Given the description of an element on the screen output the (x, y) to click on. 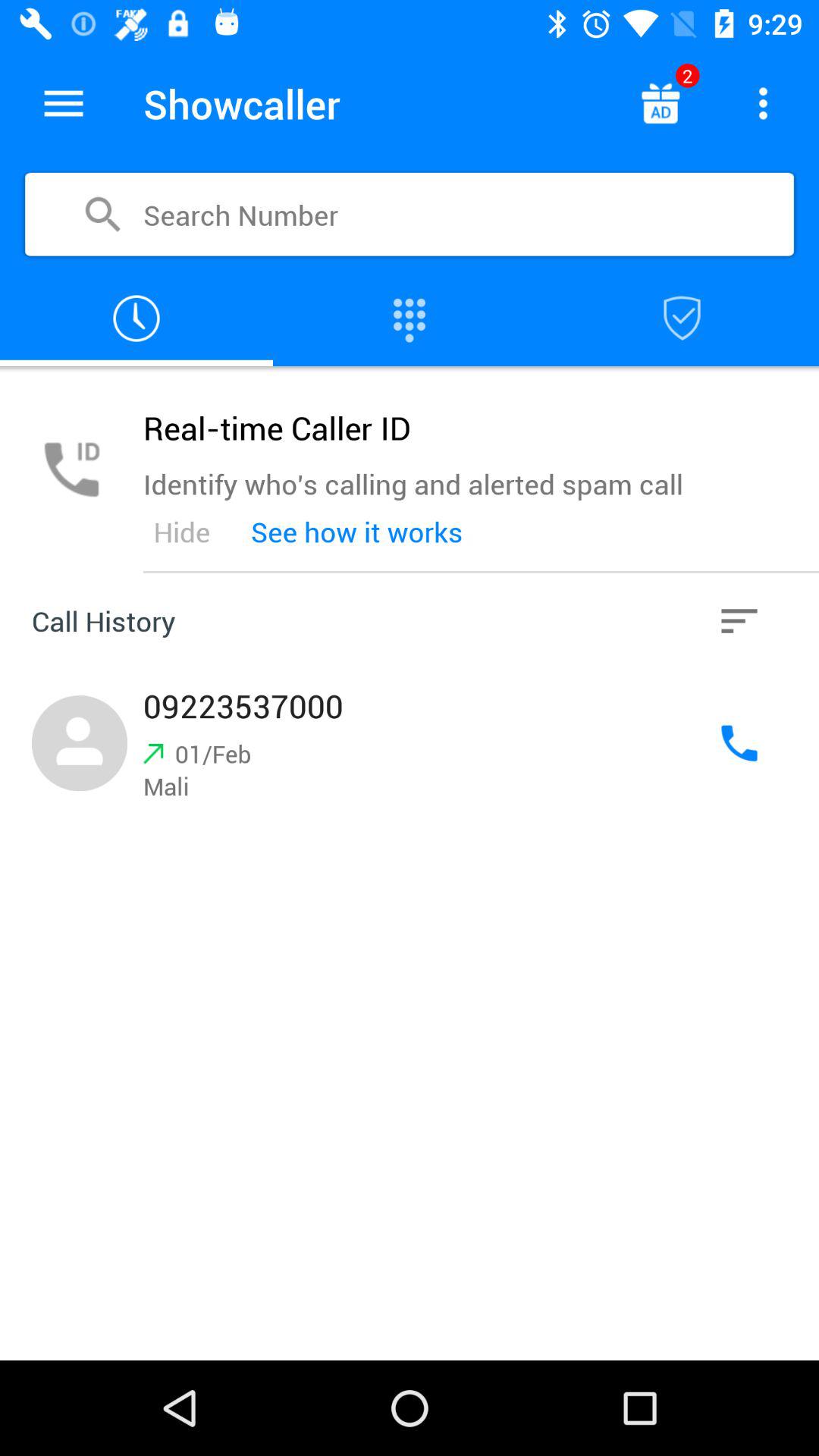
open the icon below the identify who s item (181, 531)
